Given the description of an element on the screen output the (x, y) to click on. 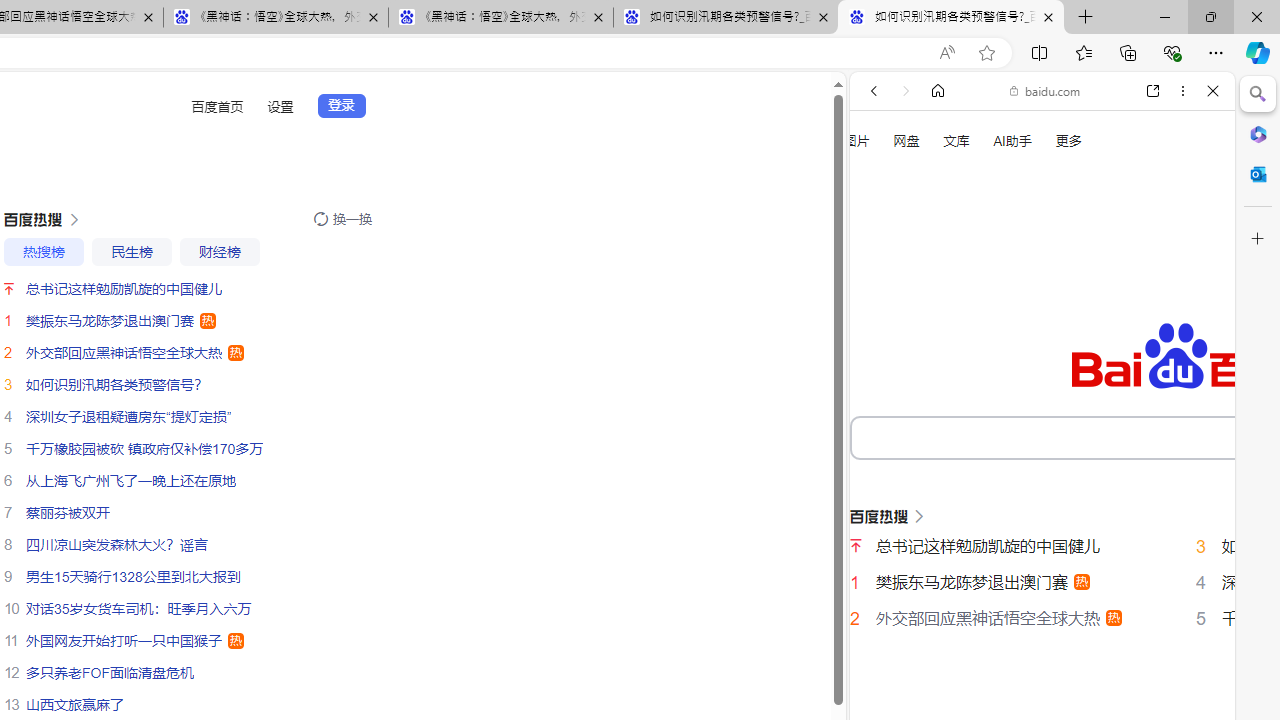
English (US) (1042, 579)
